Given the description of an element on the screen output the (x, y) to click on. 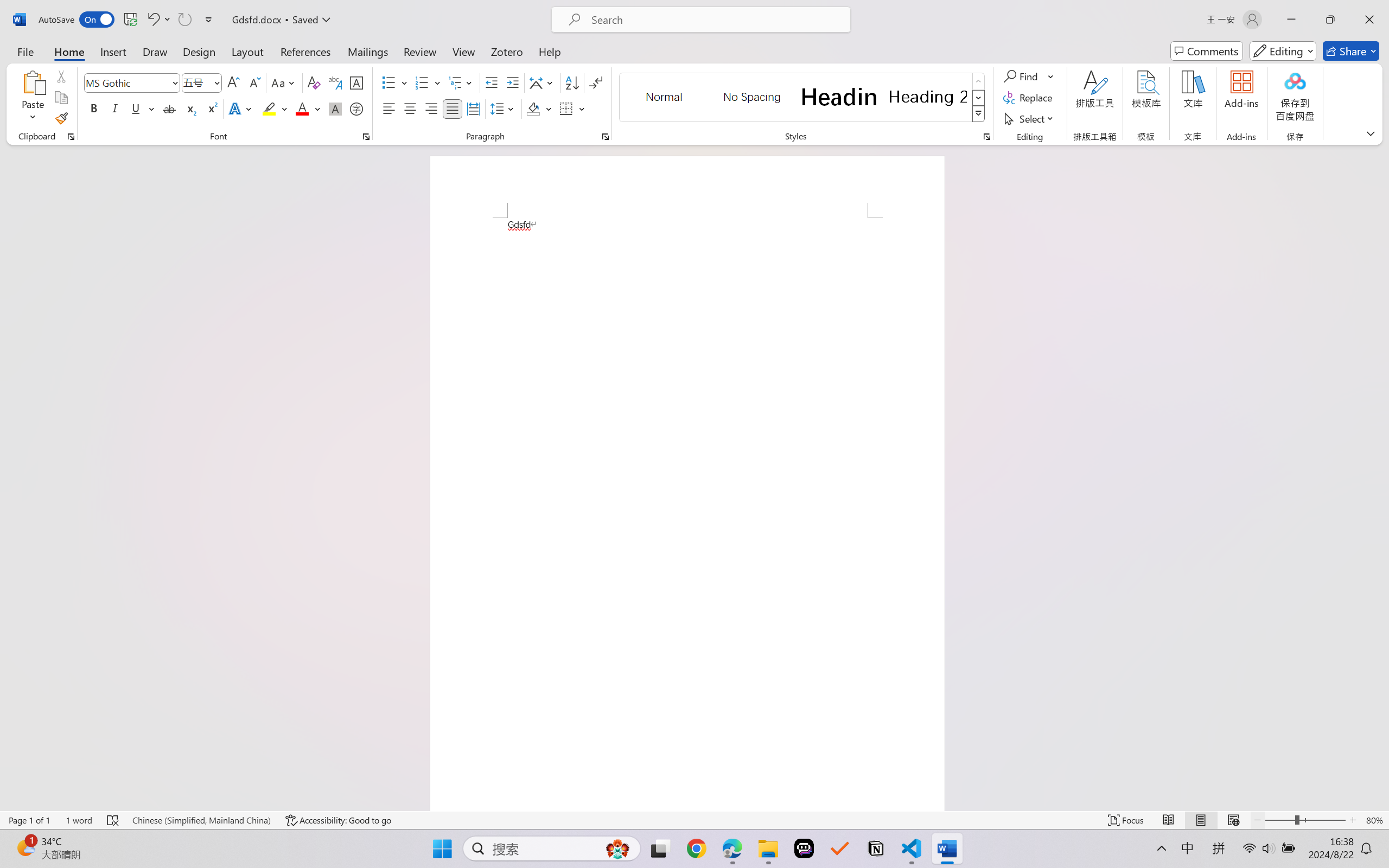
Microsoft search (715, 19)
